Given the description of an element on the screen output the (x, y) to click on. 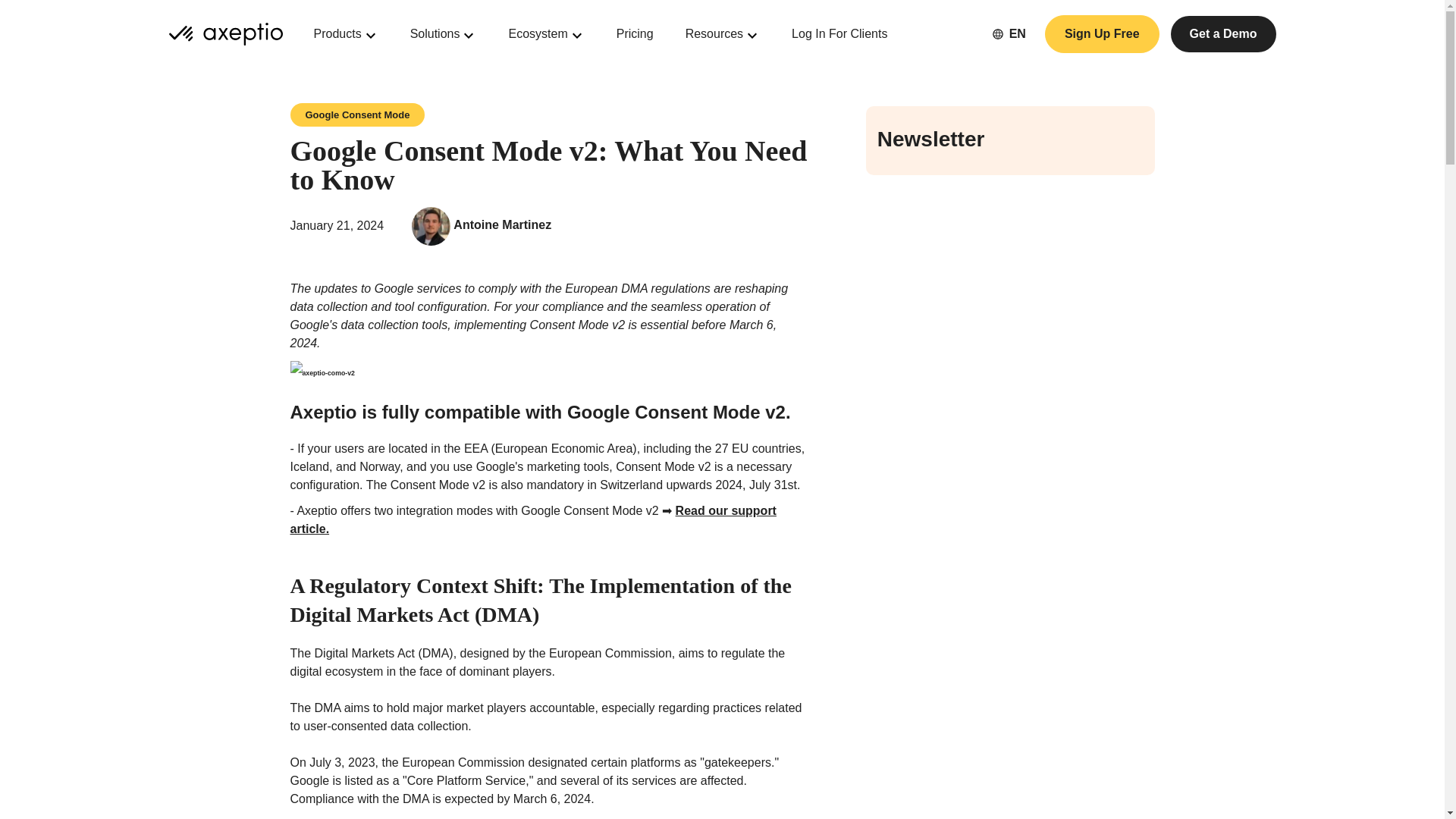
Antoine Martinez (501, 224)
Get a Demo (1223, 33)
Pricing (634, 34)
Google Consent Mode (357, 114)
Log In For Clients (839, 34)
Read our support article. (532, 519)
Sign Up Free (1101, 34)
